Given the description of an element on the screen output the (x, y) to click on. 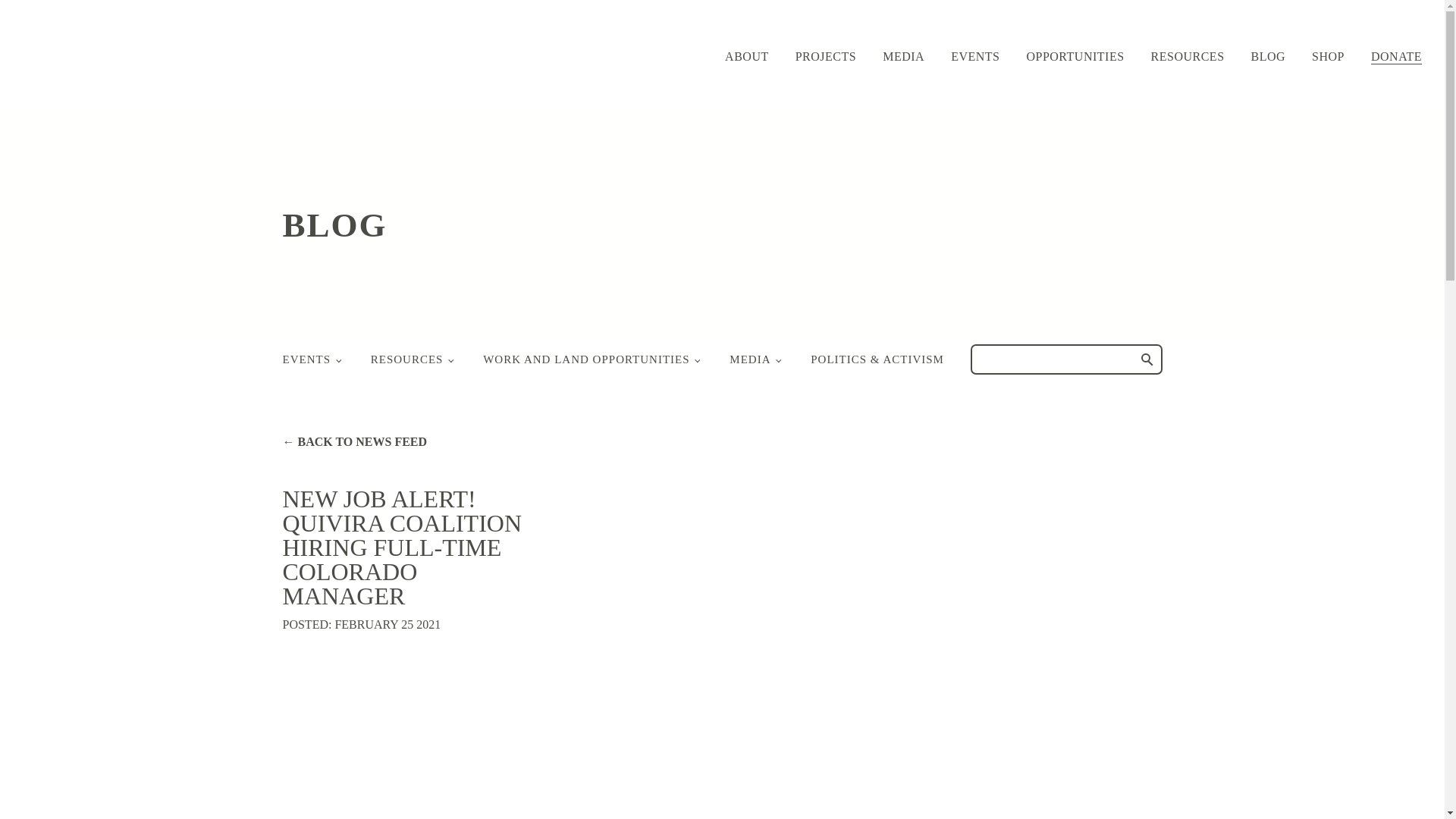
PROJECTS (825, 56)
BLOG (1267, 56)
RESOURCES (1187, 56)
ABOUT (746, 56)
MEDIA (903, 56)
EVENTS (974, 56)
OPPORTUNITIES (1075, 56)
